Given the description of an element on the screen output the (x, y) to click on. 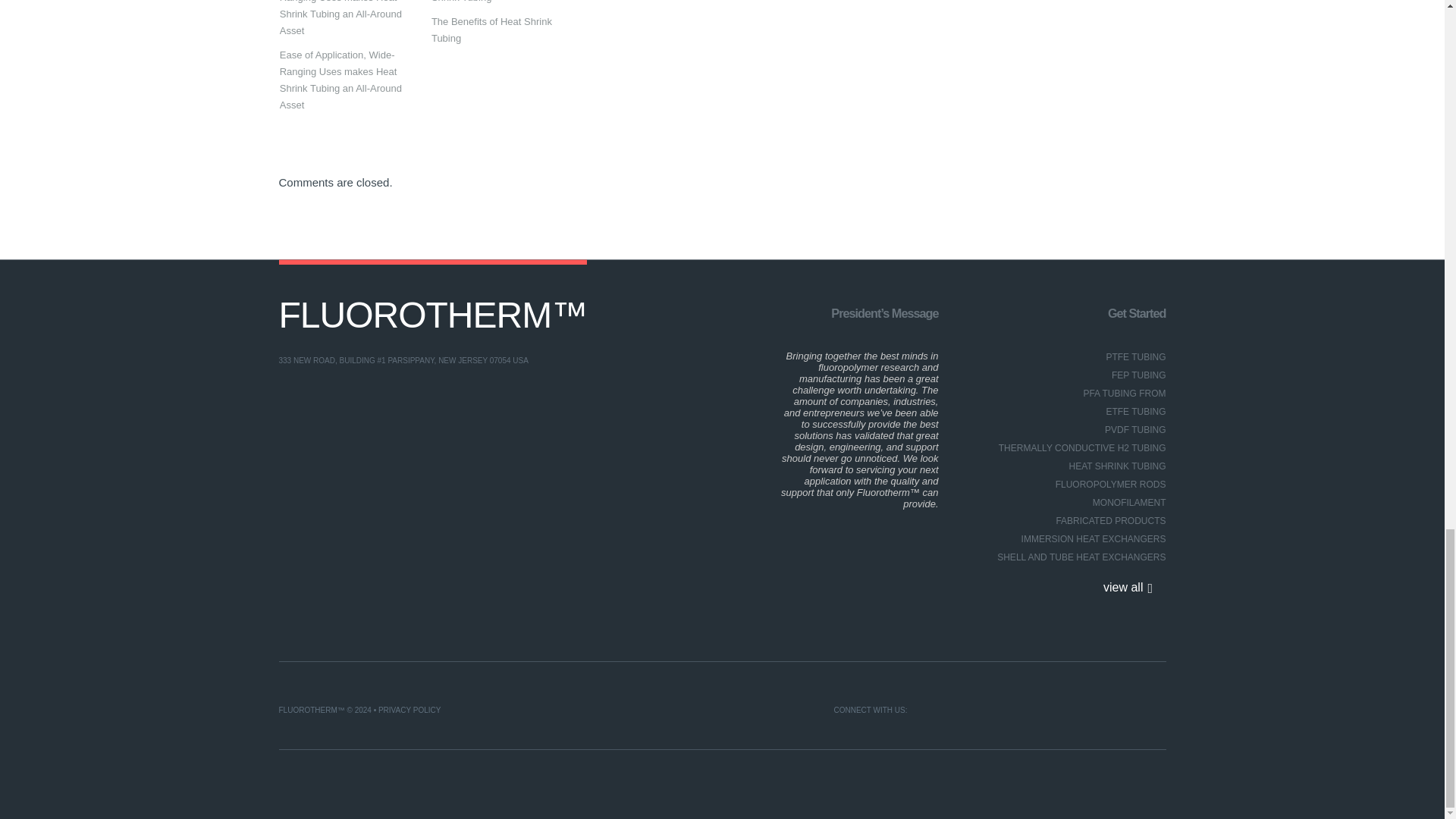
An ISO 9001-2015 Certified Company (433, 315)
The Benefits of Heat Shrink Tubing (494, 2)
